Given the description of an element on the screen output the (x, y) to click on. 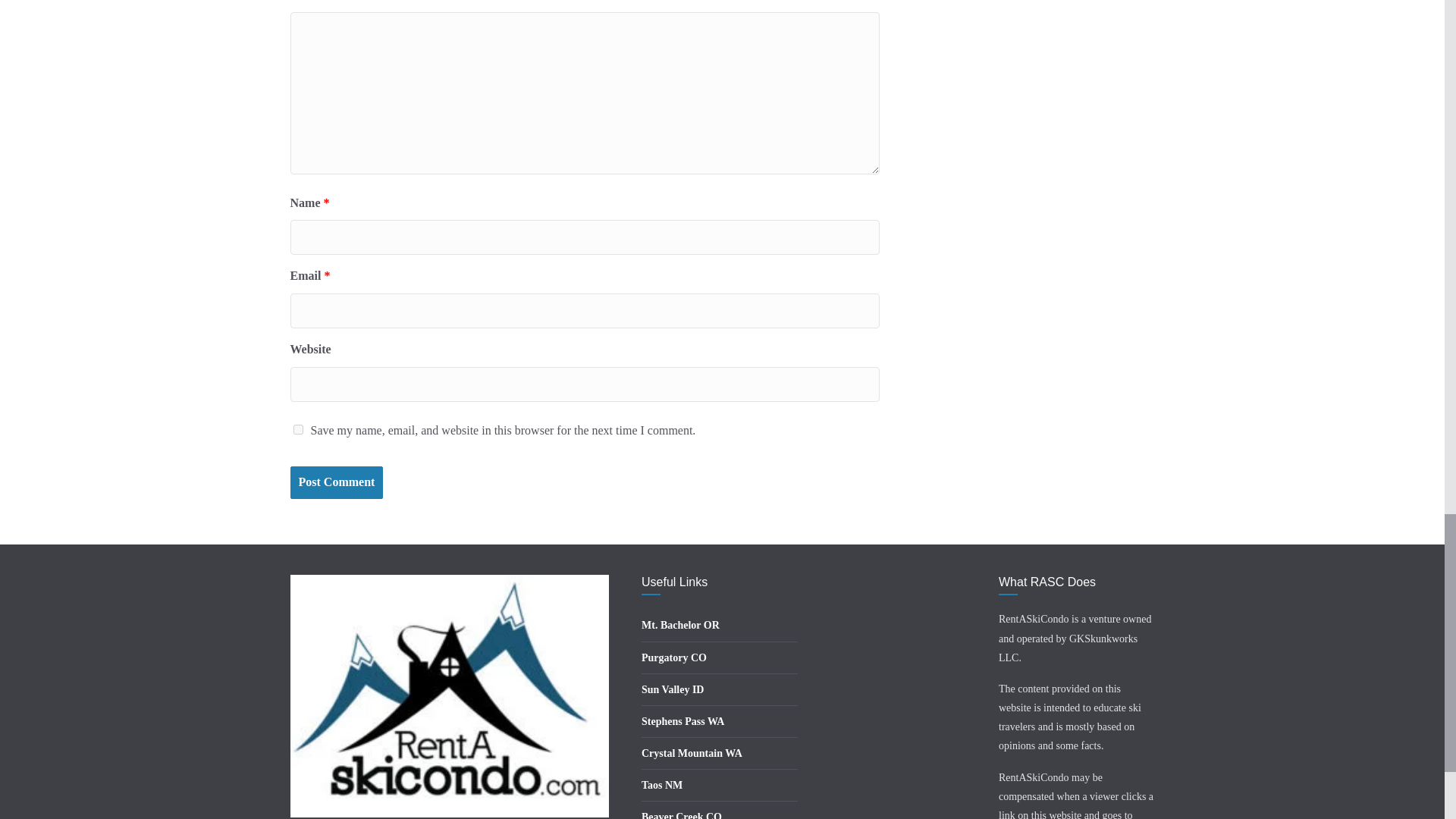
Post Comment (335, 482)
yes (297, 429)
